Given the description of an element on the screen output the (x, y) to click on. 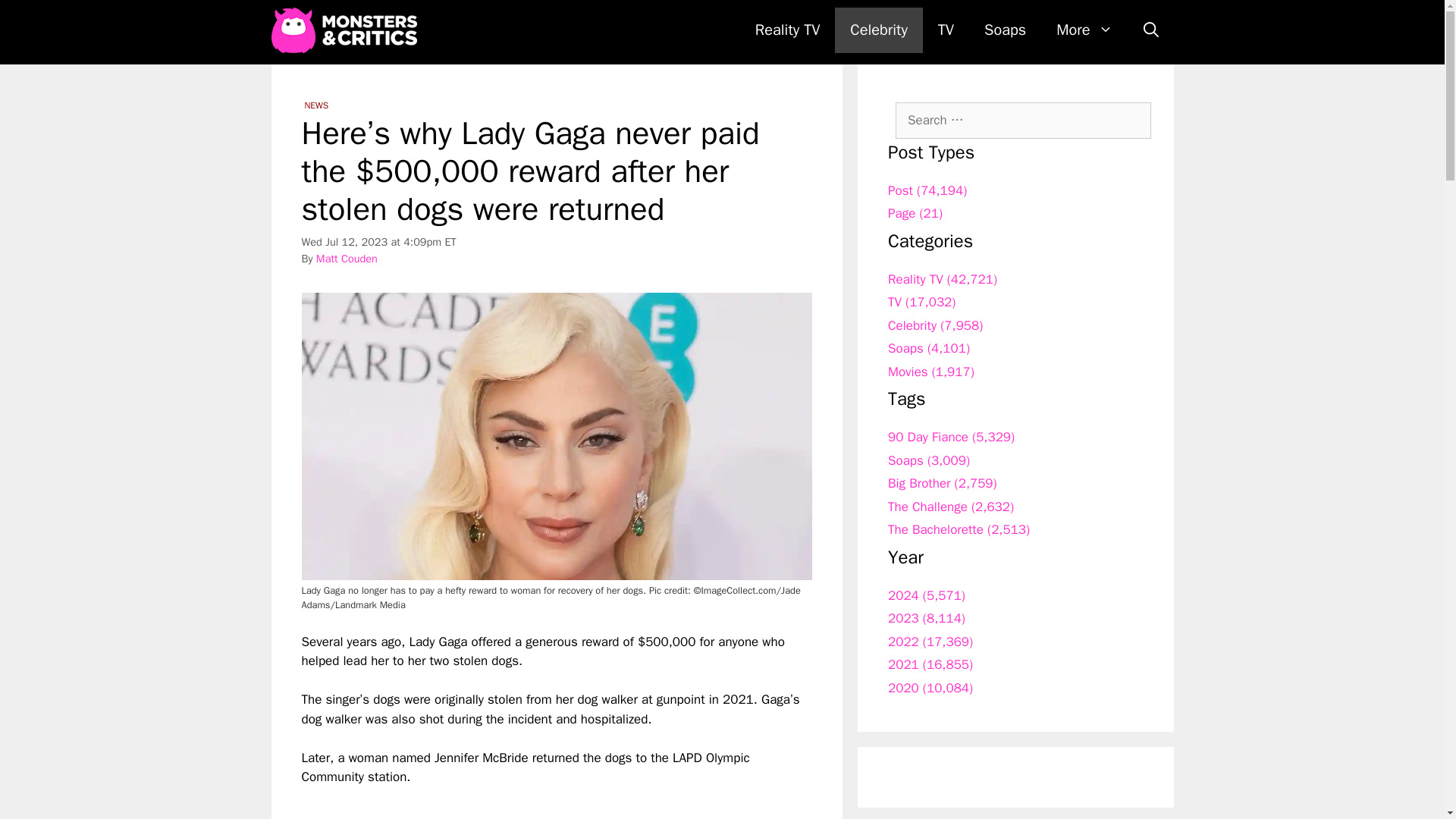
YouTube video player (513, 803)
Matt Couden (346, 258)
Monsters and Critics (343, 30)
Reality TV (787, 30)
Celebrity (877, 30)
More (1083, 30)
Monsters and Critics (347, 30)
Search for: (1023, 120)
TV (946, 30)
Soaps (1005, 30)
